Given the description of an element on the screen output the (x, y) to click on. 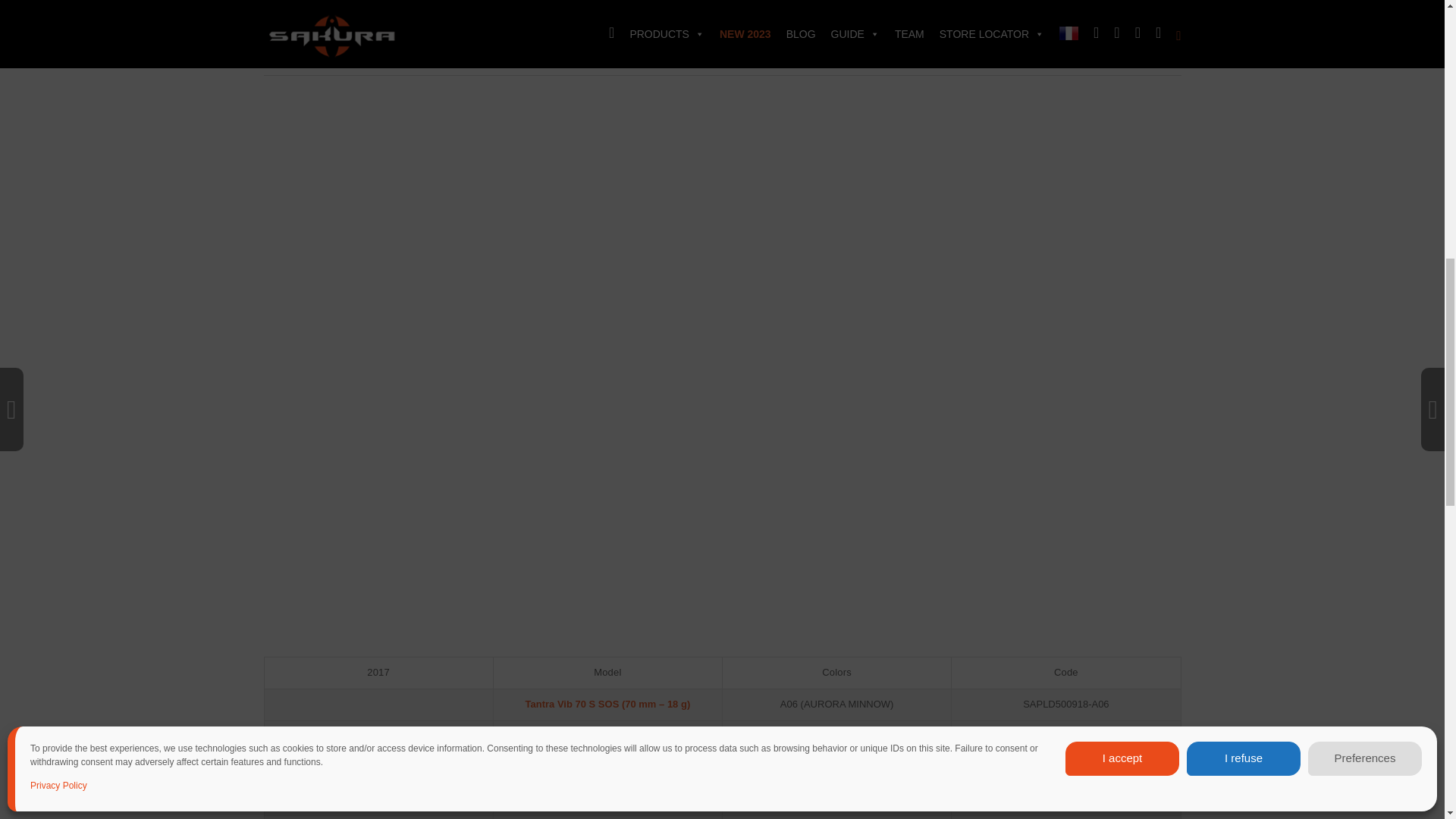
I refuse (1243, 349)
I accept (1122, 349)
Privacy Policy (58, 376)
Preferences (1364, 349)
